Given the description of an element on the screen output the (x, y) to click on. 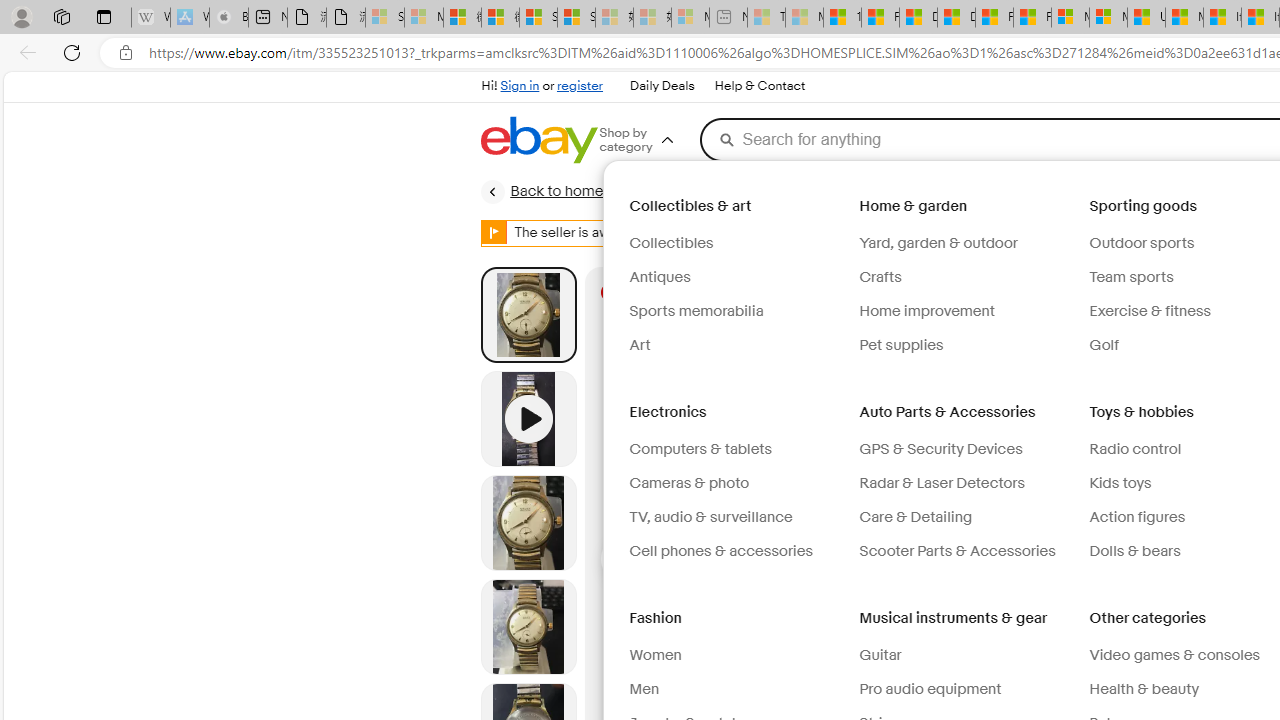
Golf (1103, 345)
GPS & Security Devices (966, 449)
Yard, garden & outdoor (966, 243)
Outdoor sports (1142, 243)
Shop by category (649, 140)
Collectibles (670, 243)
Other categories (1149, 618)
Care & Detailing (966, 517)
Dolls & bears (1135, 551)
Scooter Parts & Accessories (957, 551)
Antiques (736, 277)
eBay Home (538, 139)
